Given the description of an element on the screen output the (x, y) to click on. 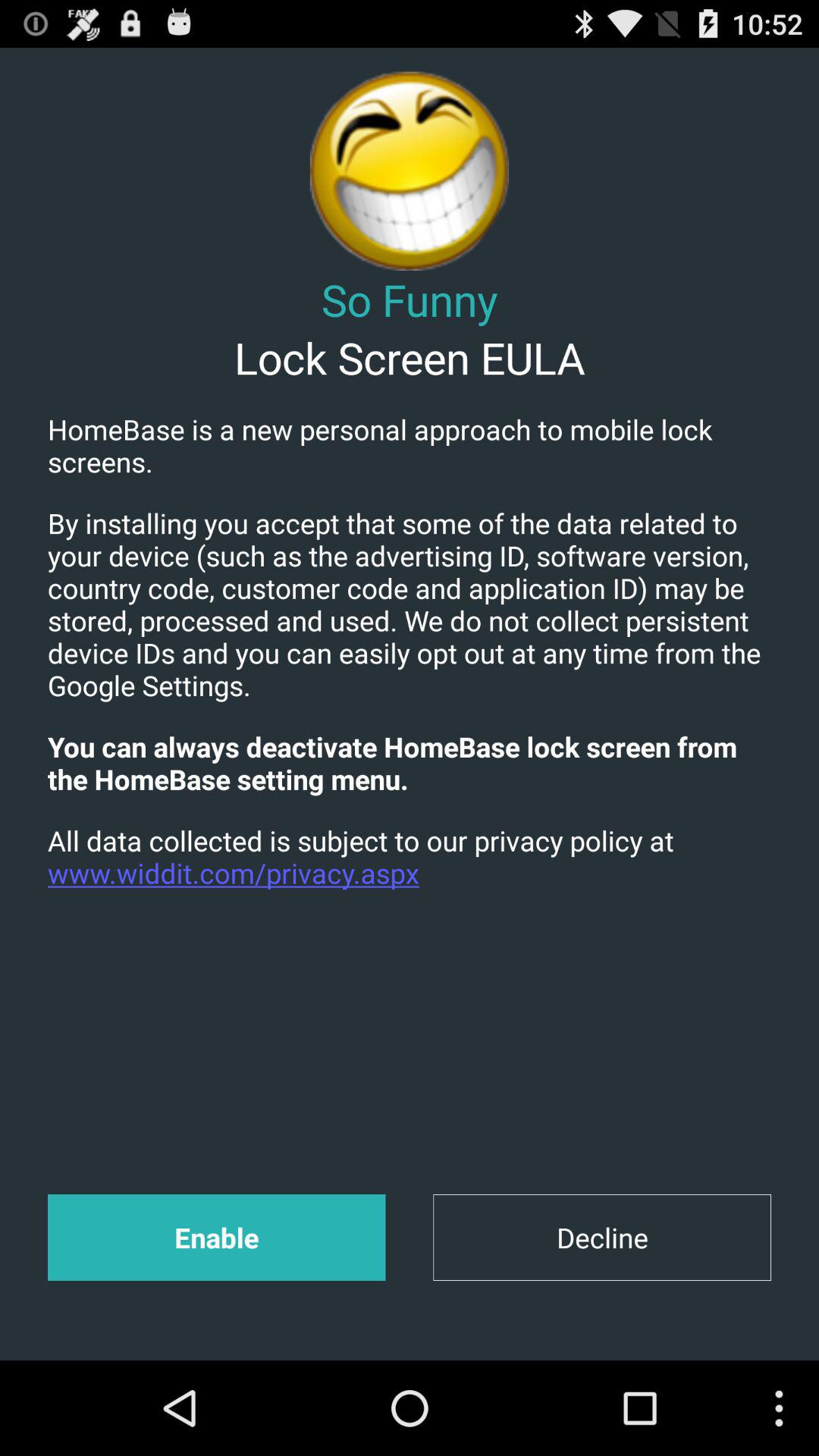
press item above all data collected app (409, 762)
